Given the description of an element on the screen output the (x, y) to click on. 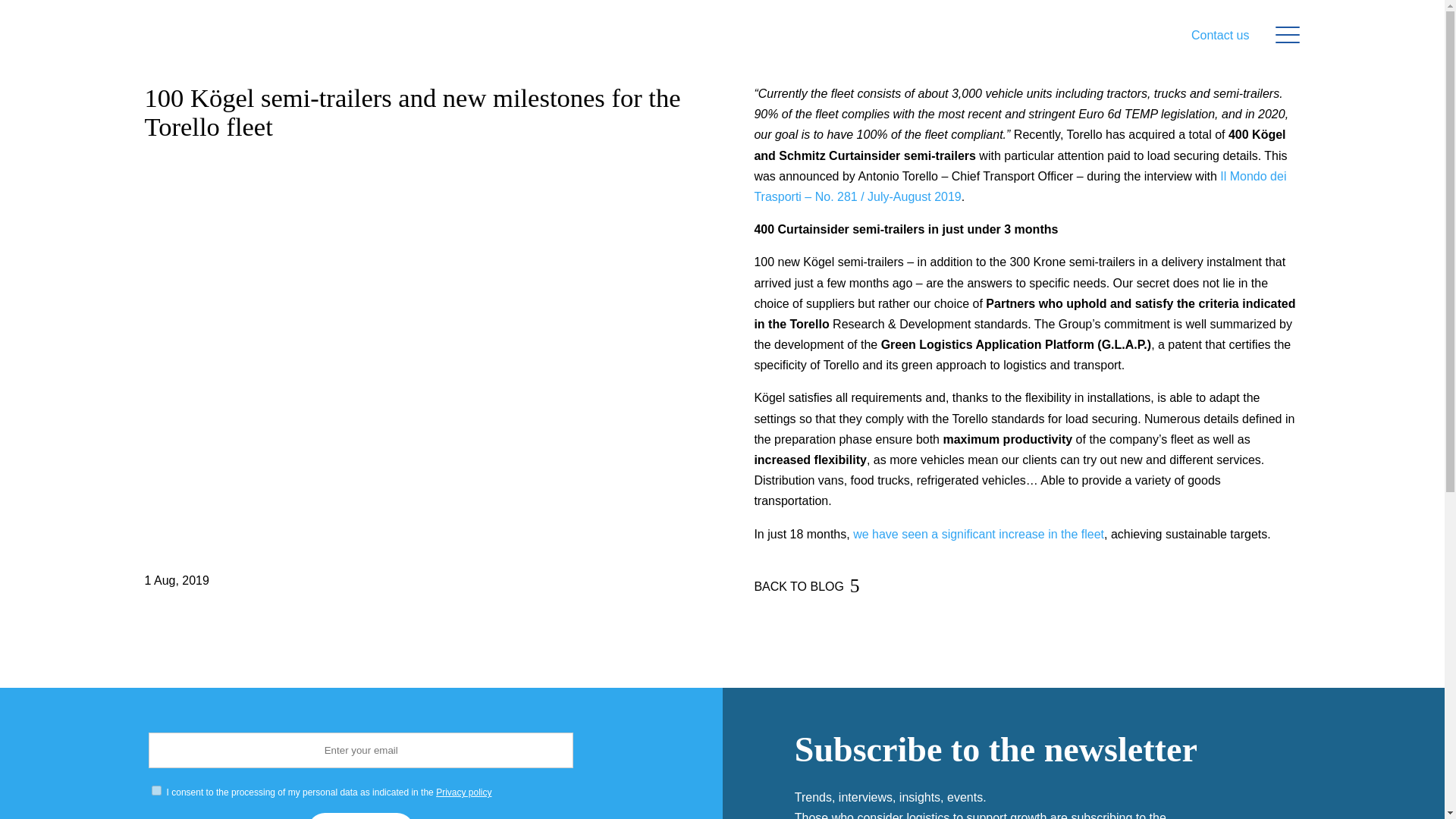
BACK TO BLOG (799, 586)
logo-torello (241, 35)
Submit (360, 816)
Privacy policy (463, 791)
Submit (360, 816)
on (156, 790)
we have seen a significant increase in the fleet (978, 533)
Contact us (1220, 34)
